Given the description of an element on the screen output the (x, y) to click on. 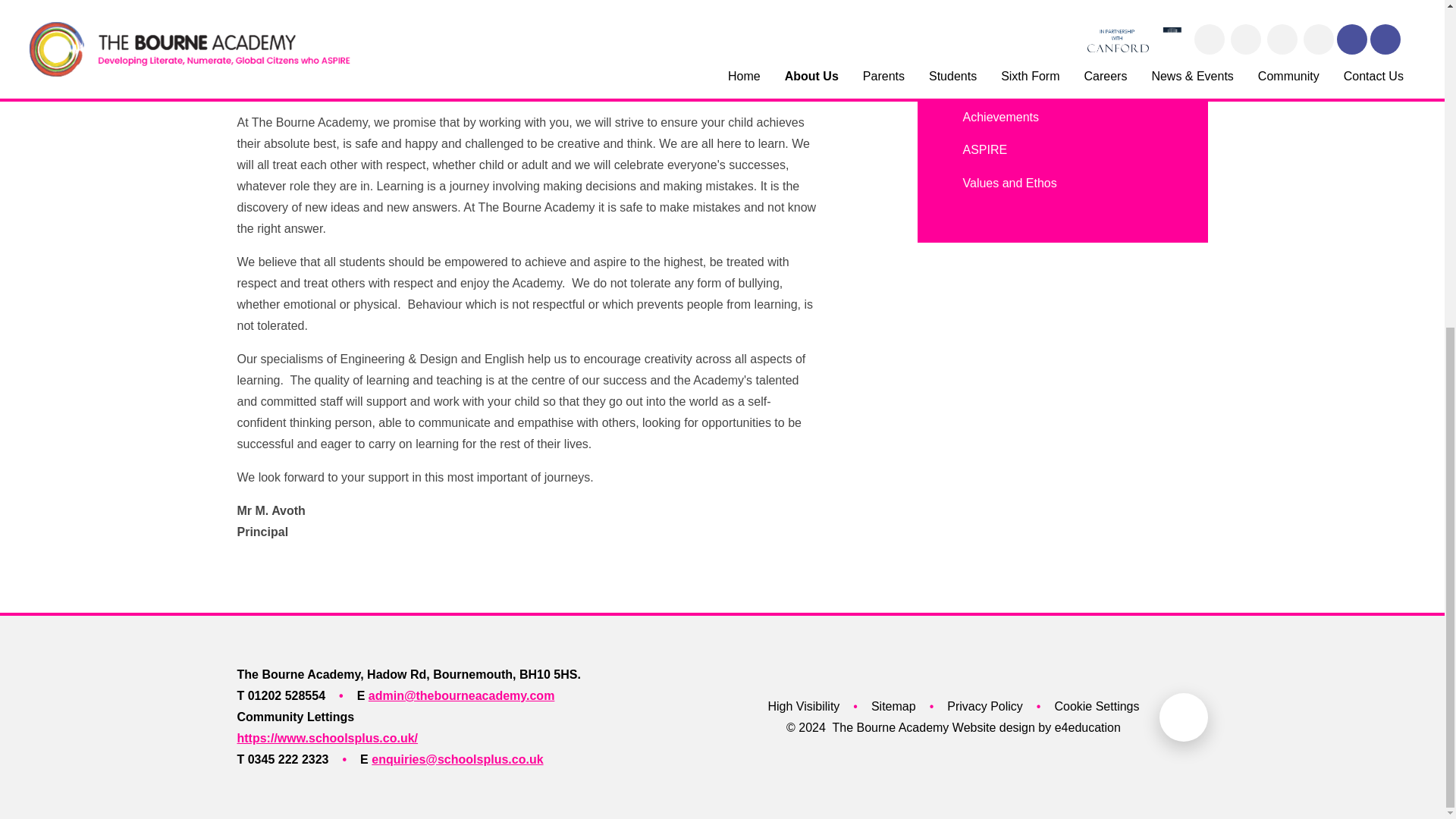
Cookie Settings (1096, 706)
